Given the description of an element on the screen output the (x, y) to click on. 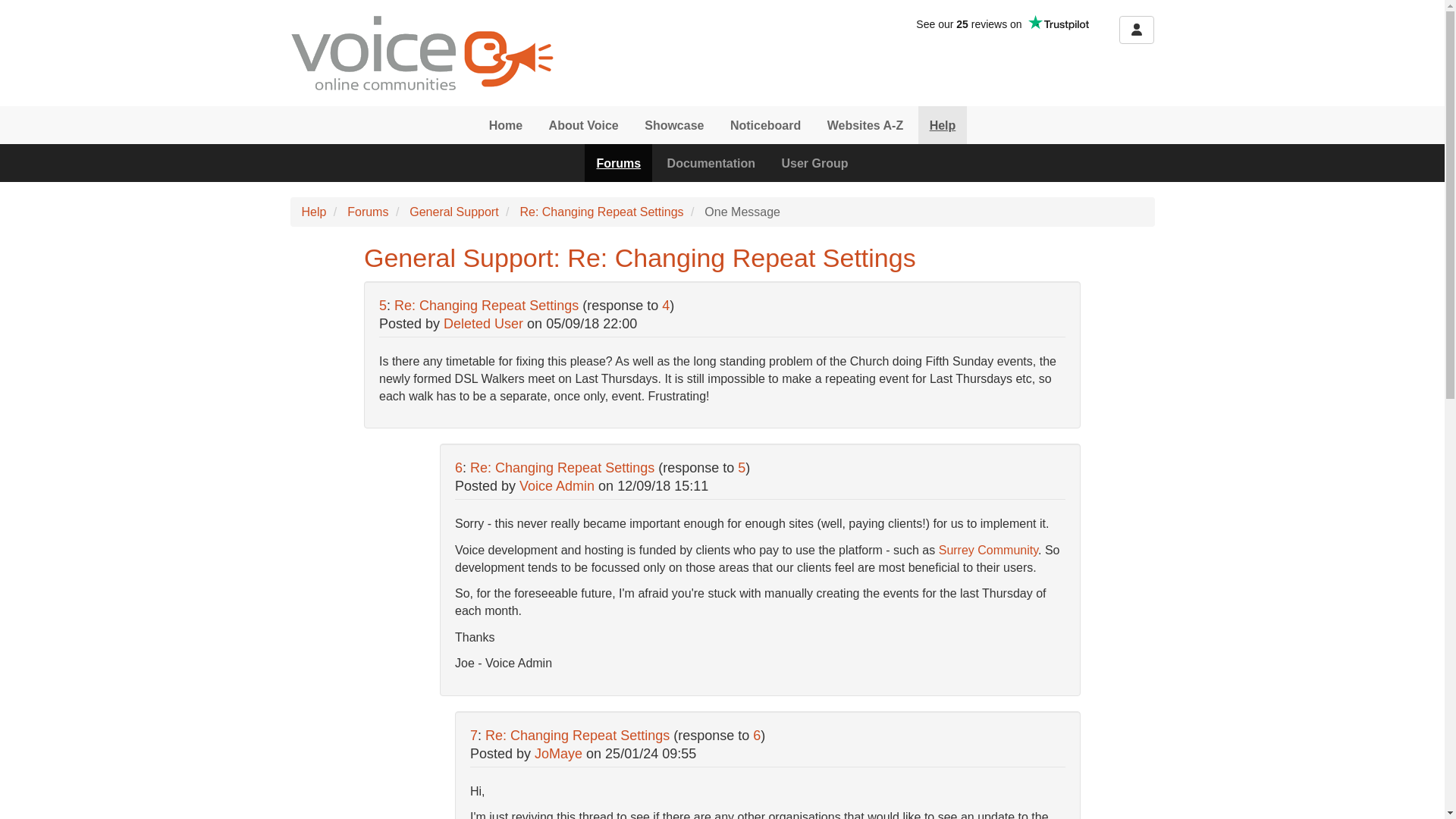
Help (943, 125)
Forums (367, 211)
Link to this post on a separate page (486, 305)
User menu (1136, 29)
Customer reviews powered by Trustpilot (1002, 24)
General Support (453, 211)
Forums (618, 162)
User menu (1136, 29)
Re: Changing Repeat Settings (486, 305)
User Group (815, 162)
